Given the description of an element on the screen output the (x, y) to click on. 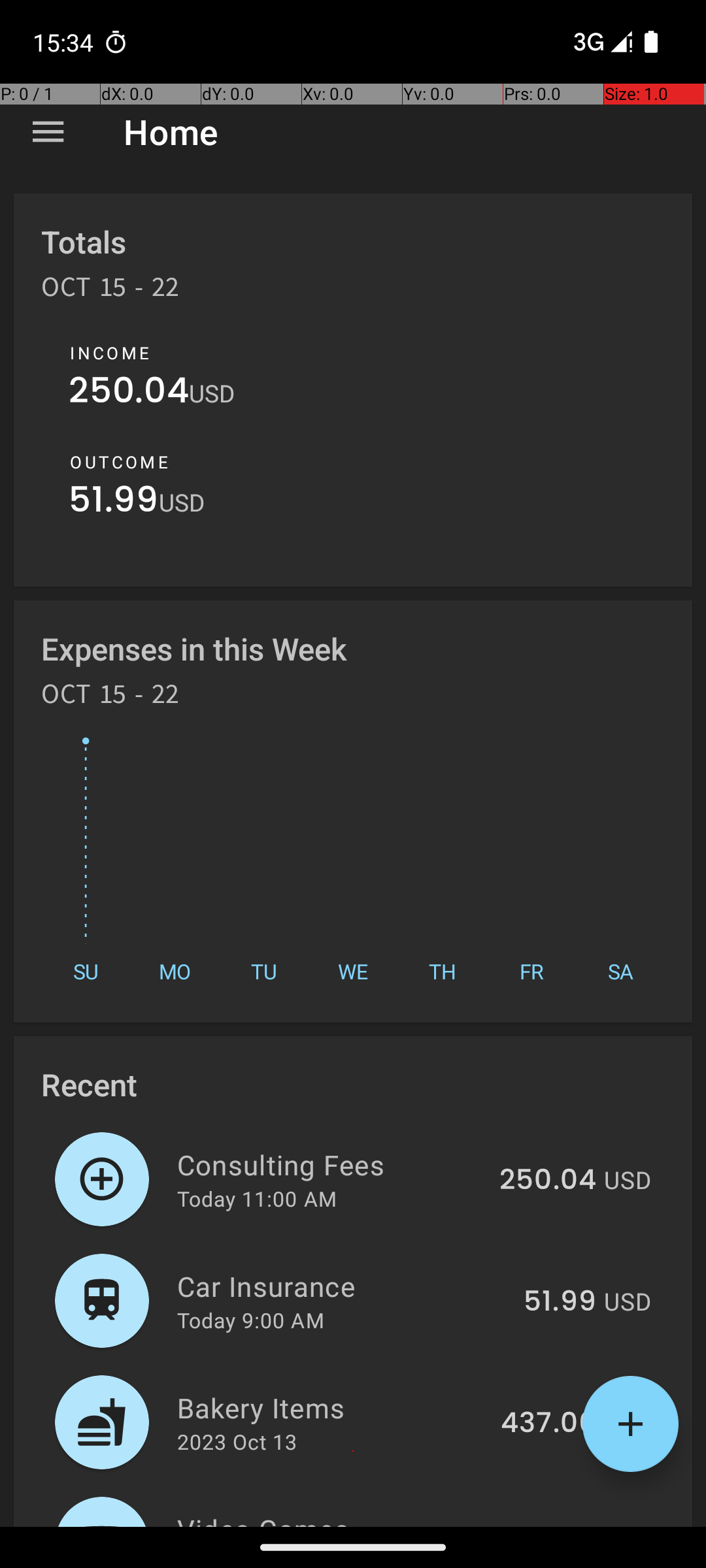
250.04 Element type: android.widget.TextView (128, 393)
51.99 Element type: android.widget.TextView (113, 502)
Today 11:00 AM Element type: android.widget.TextView (256, 1198)
Car Insurance Element type: android.widget.TextView (342, 1285)
Bakery Items Element type: android.widget.TextView (331, 1407)
437.06 Element type: android.widget.TextView (548, 1423)
197.12 Element type: android.widget.TextView (556, 1524)
